Given the description of an element on the screen output the (x, y) to click on. 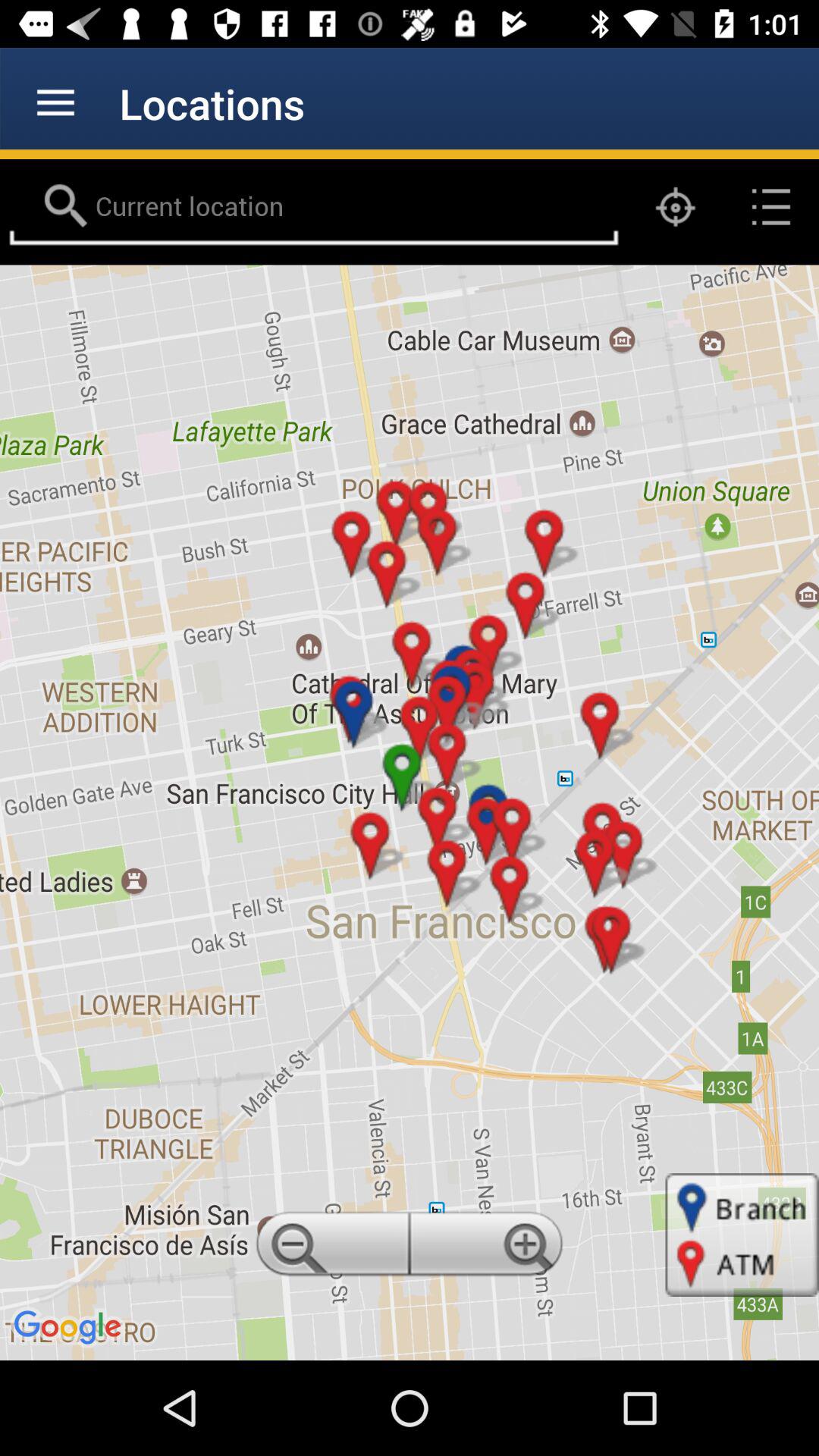
open the app to the left of the locations (55, 103)
